Given the description of an element on the screen output the (x, y) to click on. 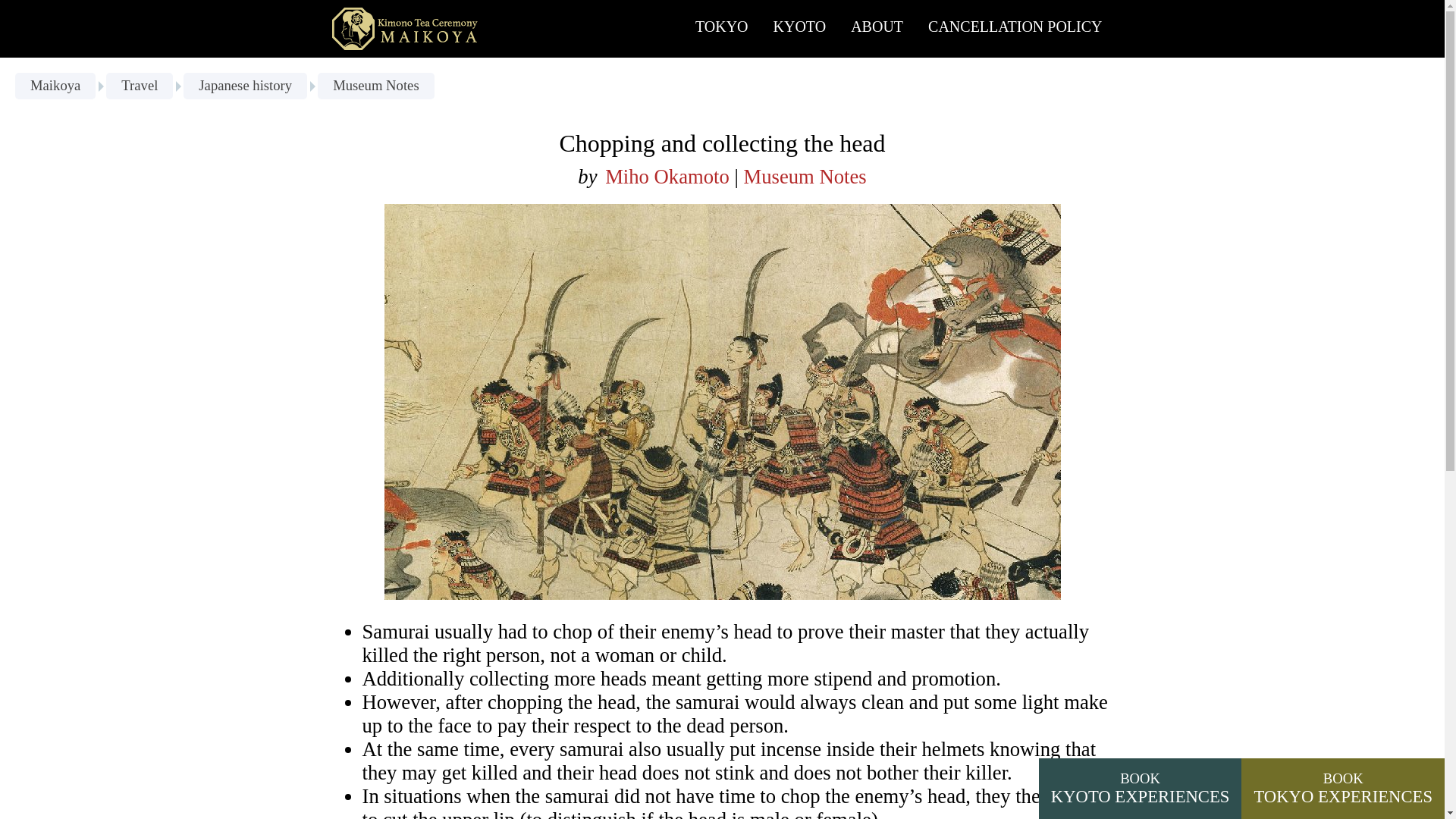
TOKYO (721, 29)
Museum Notes (375, 85)
Japanese history (1140, 788)
CANCELLATION POLICY (245, 85)
Travel (1014, 29)
ABOUT (139, 85)
Museum Notes (877, 29)
Maikoya (804, 176)
Tea Ceremony Japan Experiences MAIKOYA (55, 85)
KYOTO (407, 28)
Miho Okamoto (799, 29)
